Given the description of an element on the screen output the (x, y) to click on. 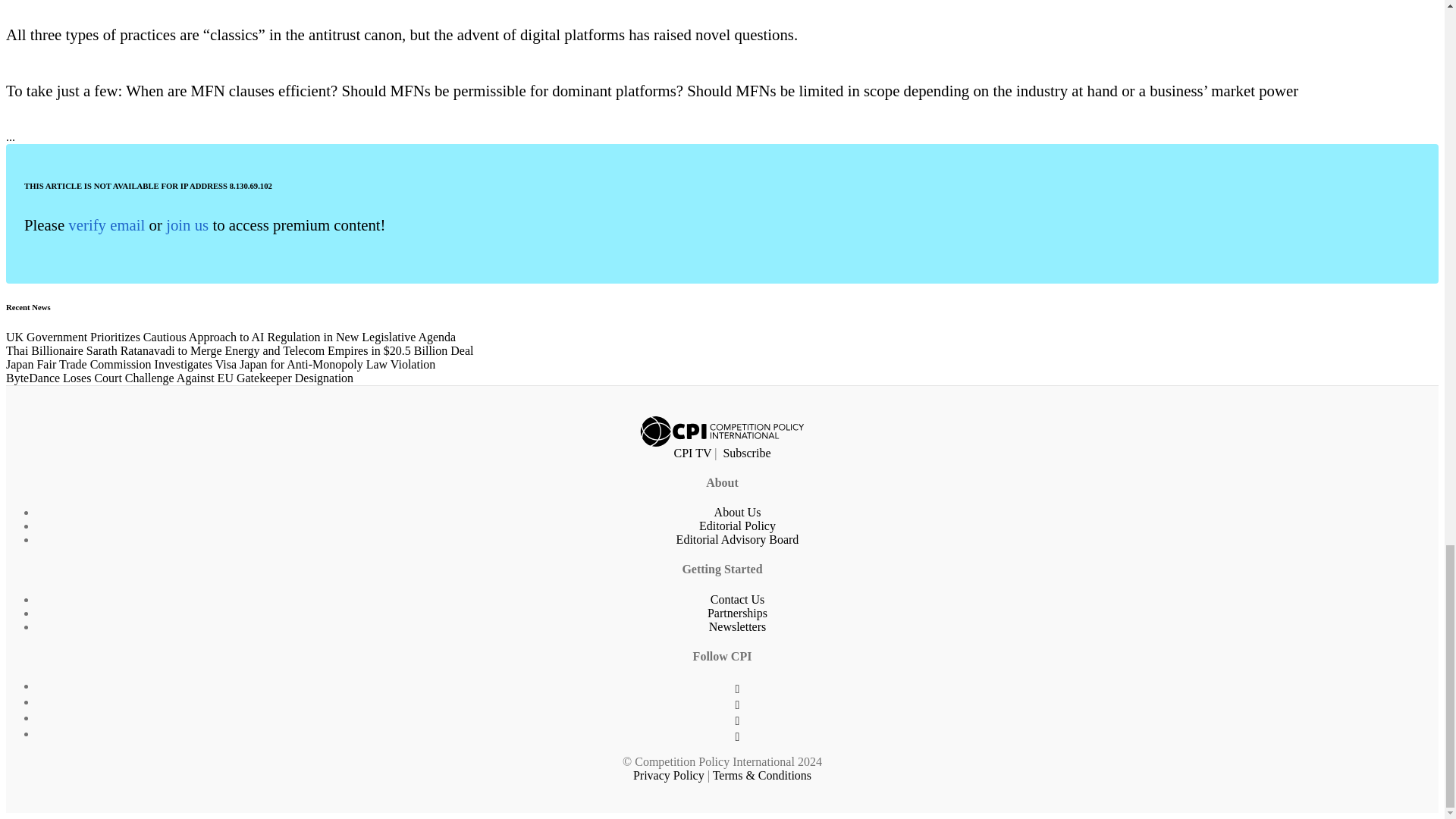
verify email (106, 224)
join us (186, 224)
About Us (737, 512)
Editorial Policy (737, 525)
CPI TV (692, 452)
Privacy Policy (668, 775)
Editorial Advisory Board (738, 539)
Newsletters (738, 626)
Contact Us (737, 599)
Partnerships (737, 612)
